Given the description of an element on the screen output the (x, y) to click on. 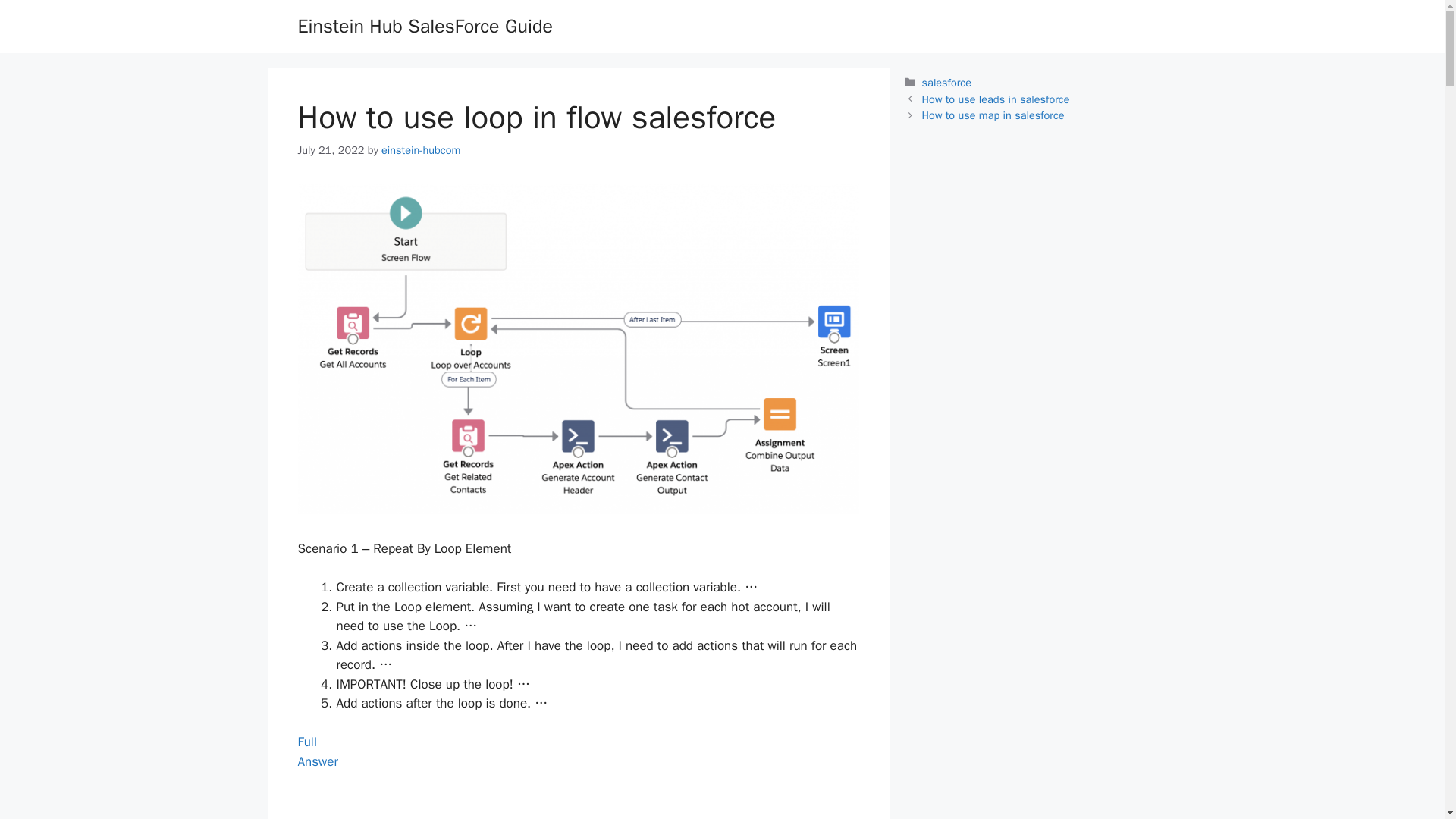
View all posts by einstein-hubcom (317, 751)
Einstein Hub SalesForce Guide (420, 150)
einstein-hubcom (424, 25)
